Given the description of an element on the screen output the (x, y) to click on. 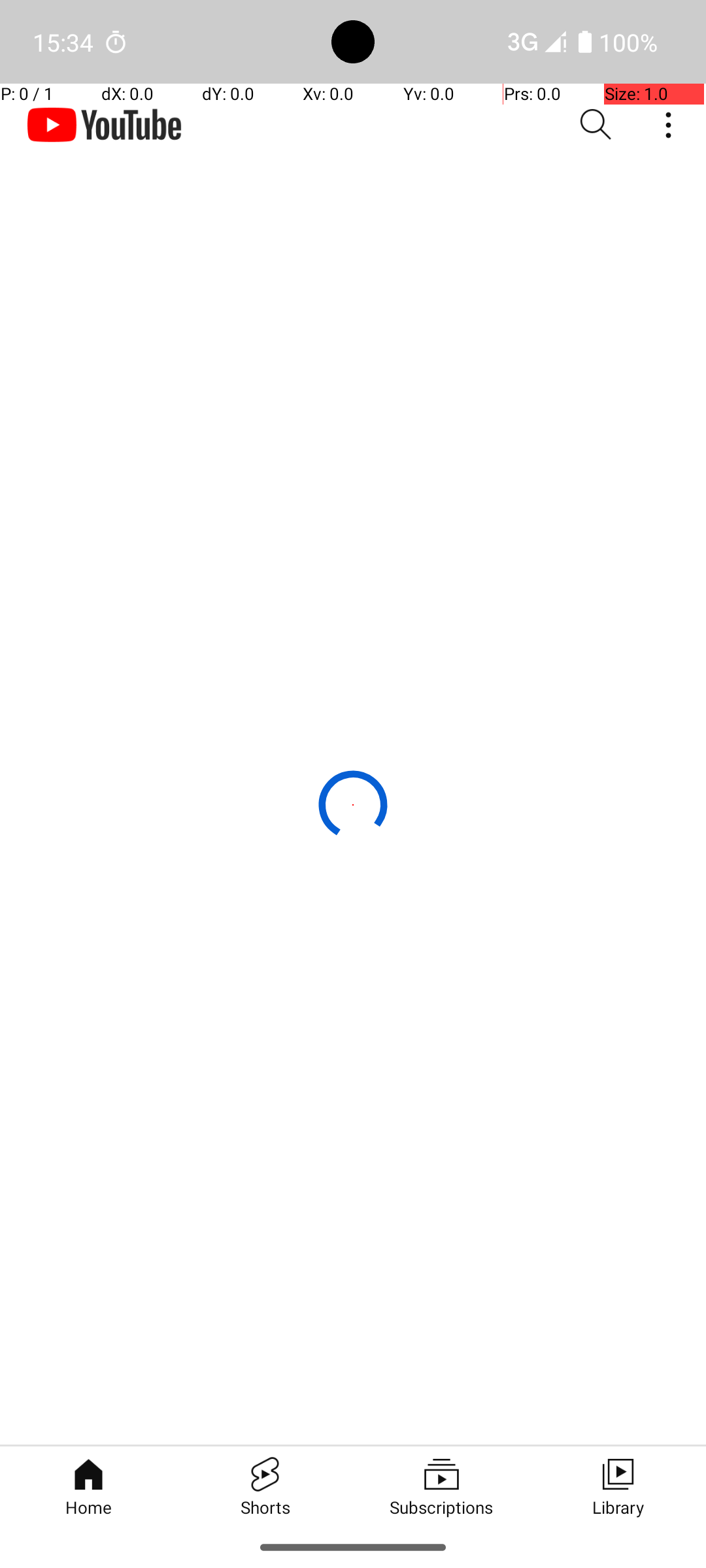
Shorts Element type: android.widget.Button (264, 1485)
Subscriptions Element type: android.widget.Button (441, 1485)
Library Element type: android.widget.Button (617, 1485)
